Given the description of an element on the screen output the (x, y) to click on. 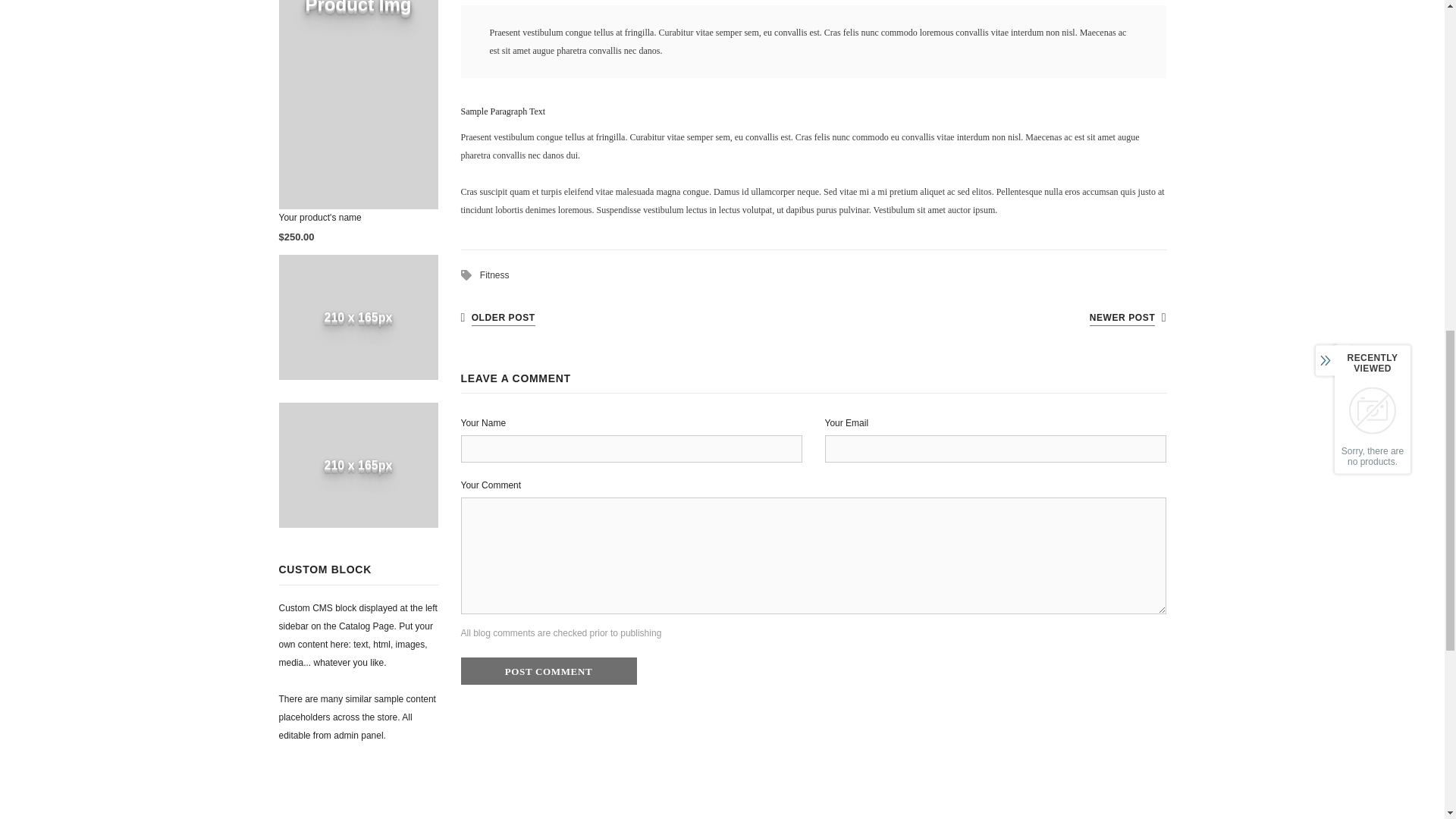
Post comment (549, 670)
